Given the description of an element on the screen output the (x, y) to click on. 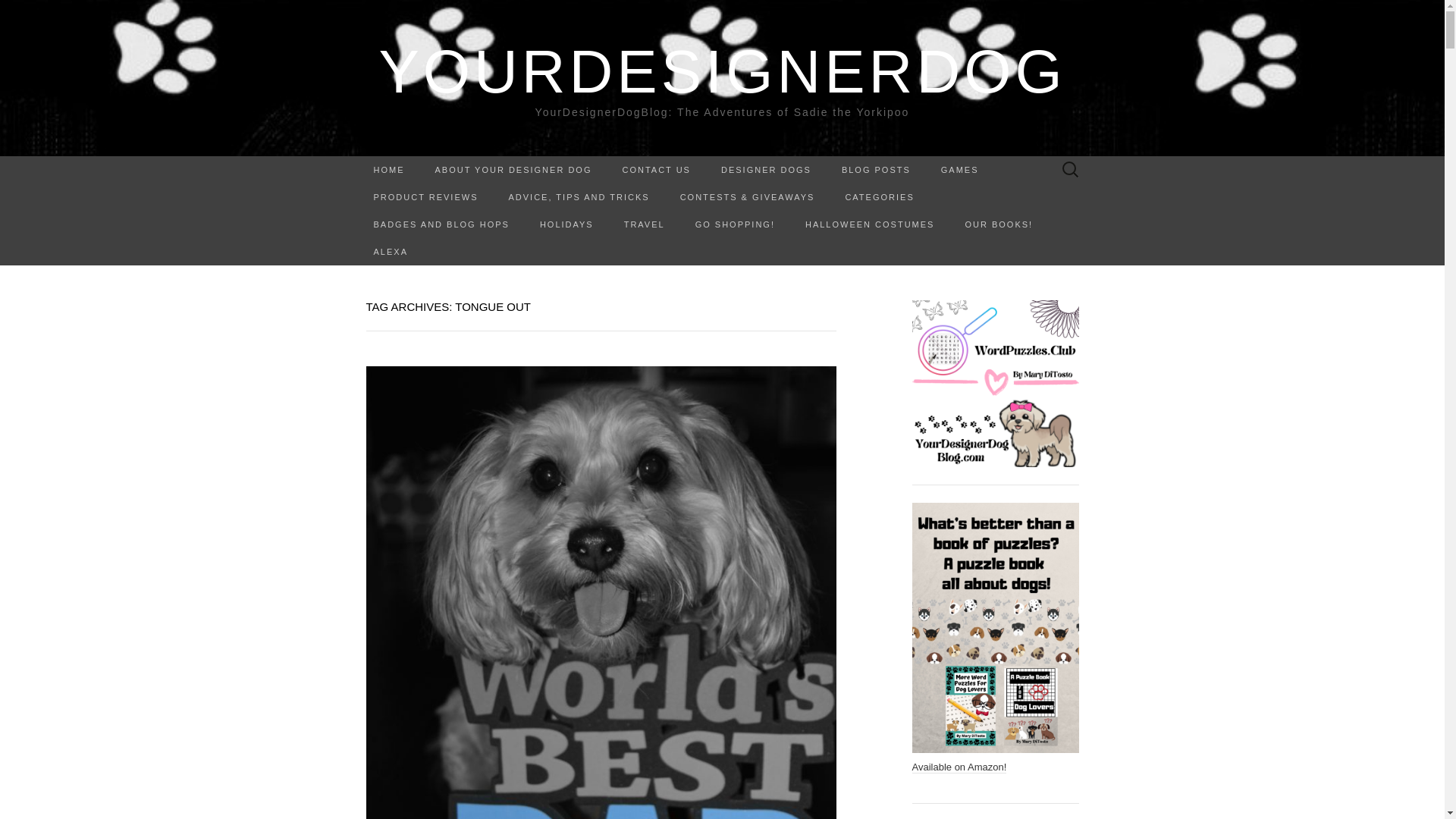
GO SHOPPING! (734, 224)
BLOG POSTS (876, 169)
TRAVEL (643, 224)
CONTACT US (656, 169)
PRODUCT REVIEWS (425, 196)
BADGES AND BLOG HOPS (441, 224)
DESIGNER DOGS (766, 169)
ALEXA (390, 251)
HOLIDAYS (566, 224)
YourDesignerDog (721, 71)
HALLOWEEN COSTUMES (869, 224)
CATEGORIES (878, 196)
ABOUT YOUR DESIGNER DOG (513, 169)
ADVICE, TIPS AND TRICKS (578, 196)
Search (16, 12)
